Given the description of an element on the screen output the (x, y) to click on. 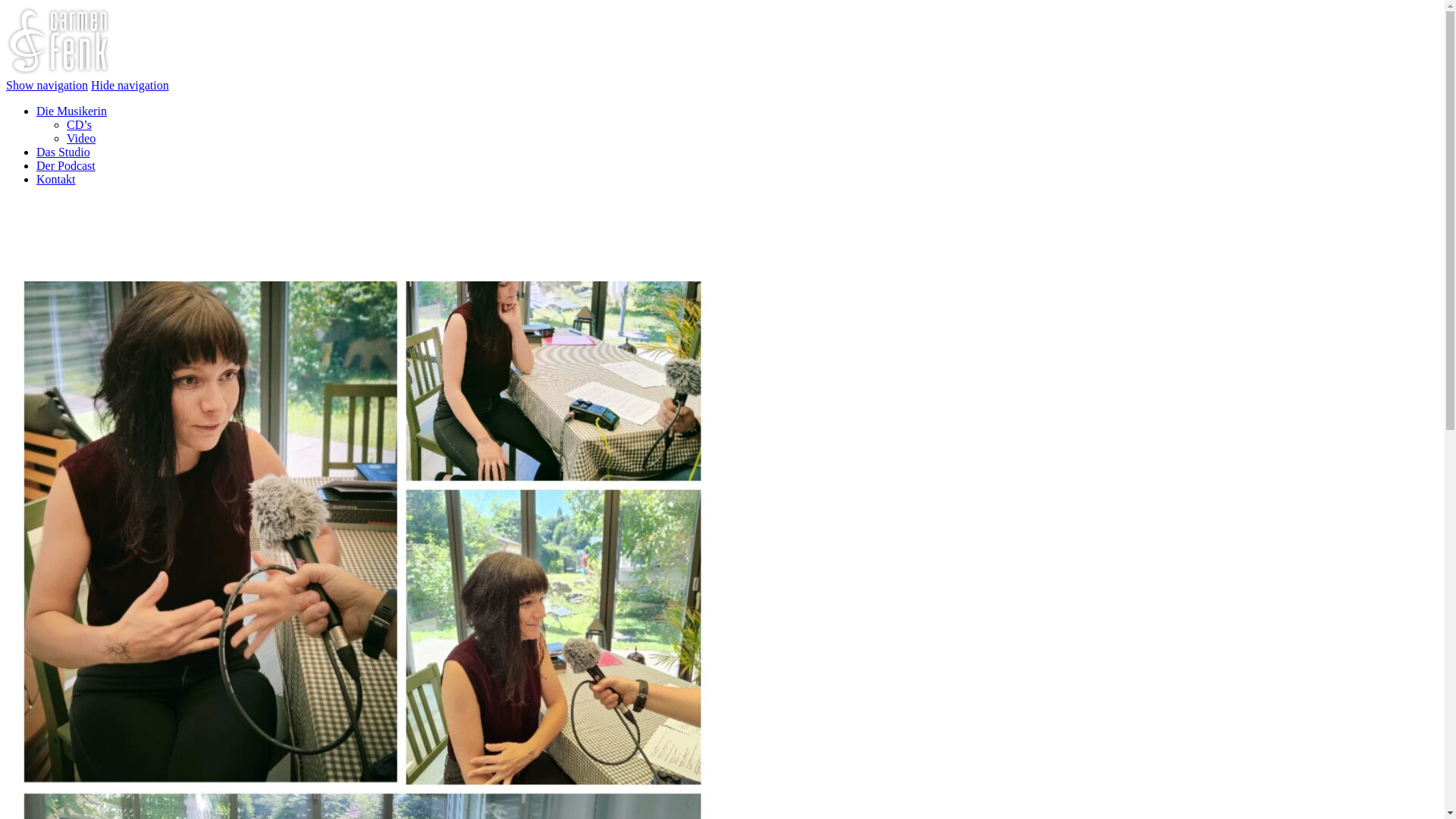
Der Podcast Element type: text (65, 165)
Das Studio Element type: text (63, 151)
Die Musikerin Element type: text (71, 110)
Carmen Fenk Element type: hover (58, 71)
Kontakt Element type: text (55, 178)
Show navigation Element type: text (46, 84)
Hide navigation Element type: text (130, 84)
Video Element type: text (80, 137)
